Given the description of an element on the screen output the (x, y) to click on. 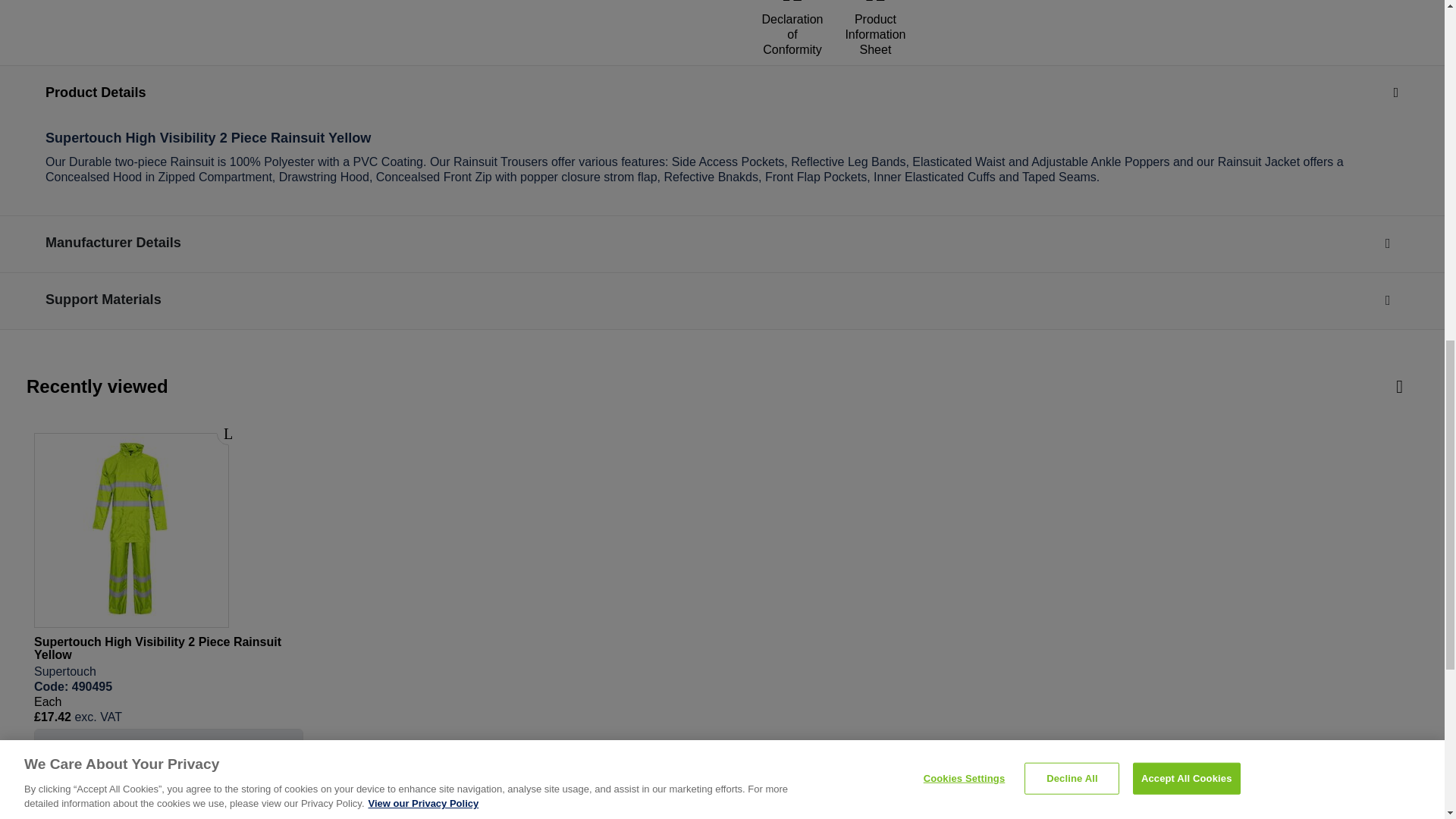
1 (168, 794)
